Given the description of an element on the screen output the (x, y) to click on. 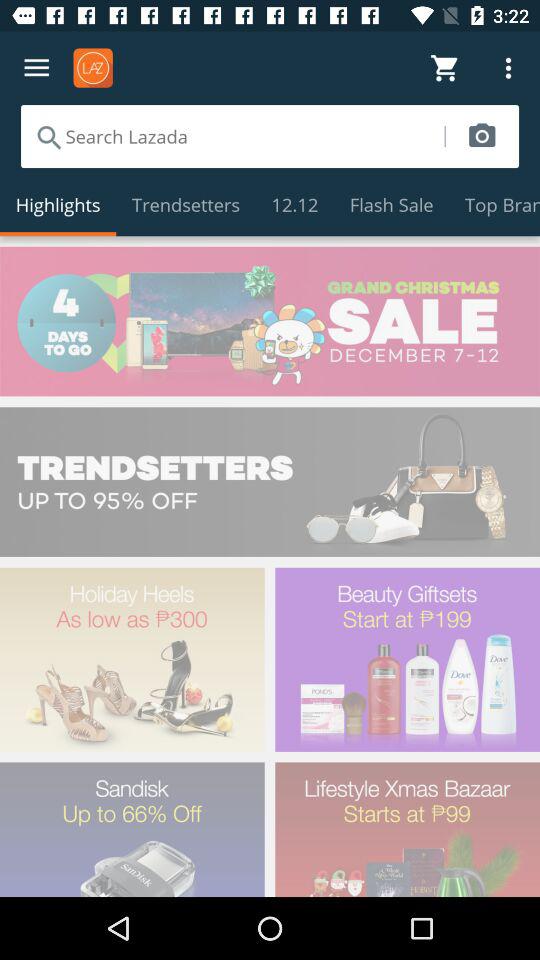
press icon above highlights (232, 136)
